Given the description of an element on the screen output the (x, y) to click on. 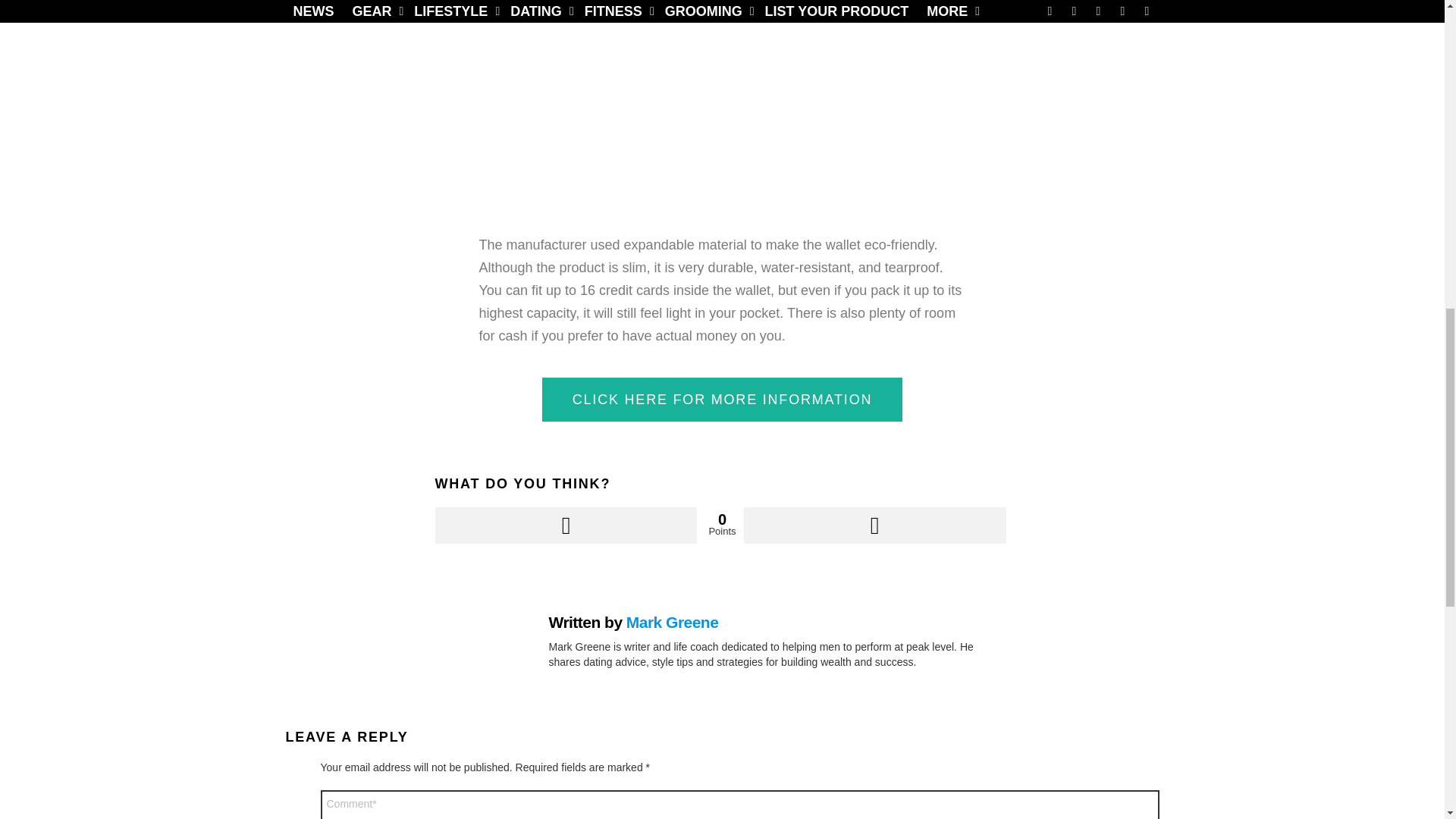
Downvote (875, 524)
Upvote (566, 524)
